Given the description of an element on the screen output the (x, y) to click on. 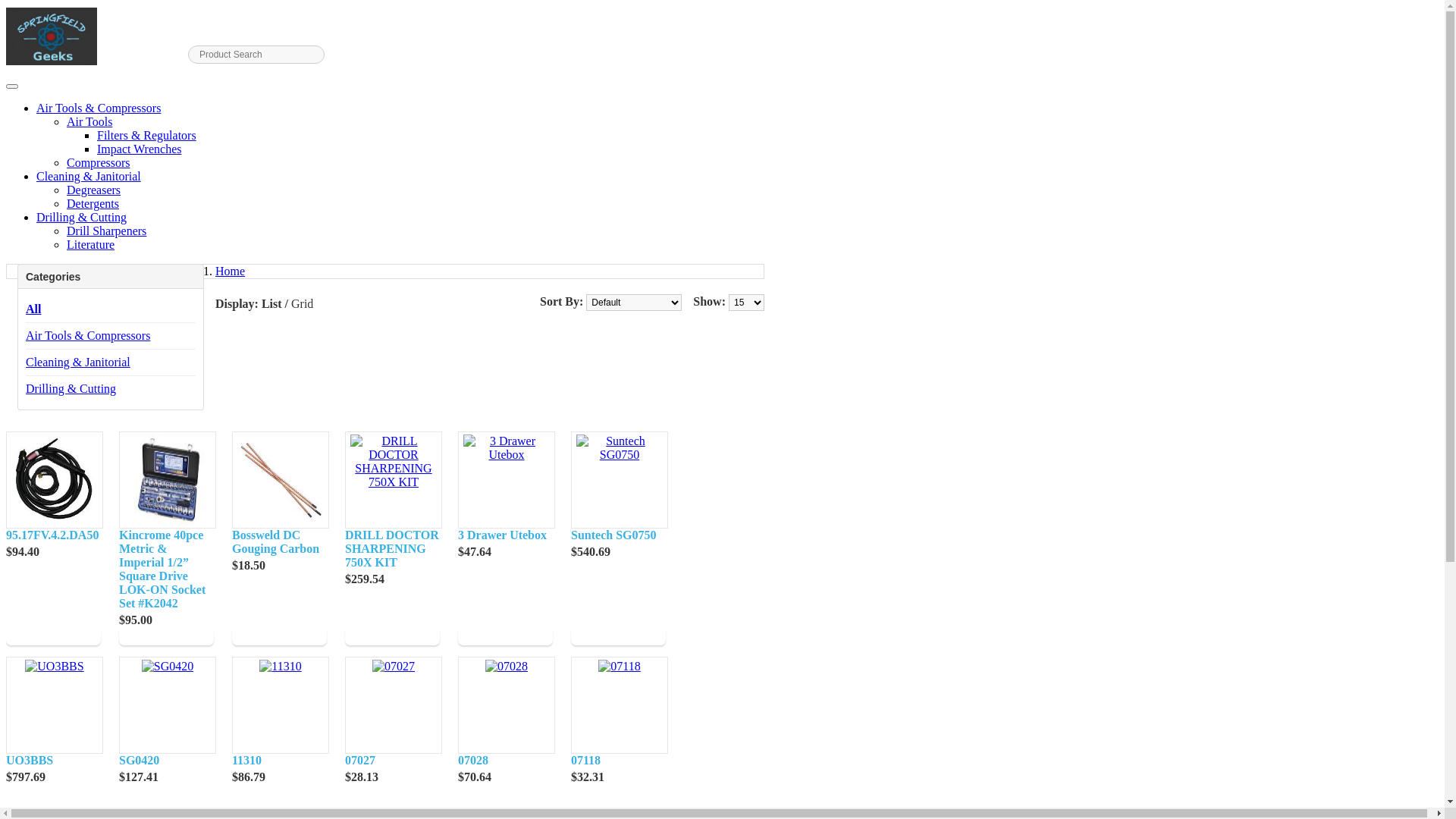
Filters & Regulators Element type: text (146, 134)
Detergents Element type: text (92, 203)
11310 Element type: hover (280, 666)
Add to Cart Element type: text (166, 636)
Bossweld DC Gouging Carbon Element type: text (279, 541)
List Element type: text (271, 303)
Drill Sharpeners Element type: text (106, 230)
Impact Wrenches Element type: text (139, 148)
3 Drawer Utebox Element type: text (505, 535)
Add to Cart Element type: text (505, 636)
07028 Element type: text (505, 760)
07028 Element type: hover (506, 666)
Cleaning & Janitorial Element type: text (77, 361)
Literature Element type: text (90, 244)
07118 Element type: hover (619, 666)
Air Tools & Compressors Element type: text (87, 335)
Air Tools & Compressors Element type: text (98, 107)
DRILL DOCTOR SHARPENING 750X KIT Element type: hover (393, 461)
95.17FV.4.2.DA50 Element type: text (53, 535)
Add to Cart Element type: text (53, 636)
SG0420 Element type: text (166, 760)
11310 Element type: text (279, 760)
Cleaning & Janitorial Element type: text (88, 175)
07118 Element type: text (618, 760)
DRILL DOCTOR SHARPENING 750X KIT Element type: text (392, 548)
Add to Cart Element type: text (279, 636)
All Element type: text (32, 308)
Add to Cart Element type: text (618, 636)
07027 Element type: text (392, 760)
Drilling & Cutting Element type: text (81, 216)
Suntech SG0750 Element type: hover (619, 447)
Bossweld DC Gouging Carbon Element type: hover (279, 479)
3 Drawer Utebox Element type: hover (505, 447)
Suntech SG0750 Element type: text (618, 535)
95.17FV.4.2.DA50 Element type: hover (53, 479)
Add to Cart Element type: text (392, 636)
07027 Element type: hover (393, 666)
UO3BBS Element type: text (53, 760)
Degreasers Element type: text (93, 189)
Springfield Geeks Element type: hover (51, 36)
UO3BBS Element type: hover (54, 666)
SG0420 Element type: hover (167, 666)
Compressors Element type: text (98, 162)
Air Tools Element type: text (89, 121)
Home Element type: text (229, 270)
Drilling & Cutting Element type: text (70, 388)
